Given the description of an element on the screen output the (x, y) to click on. 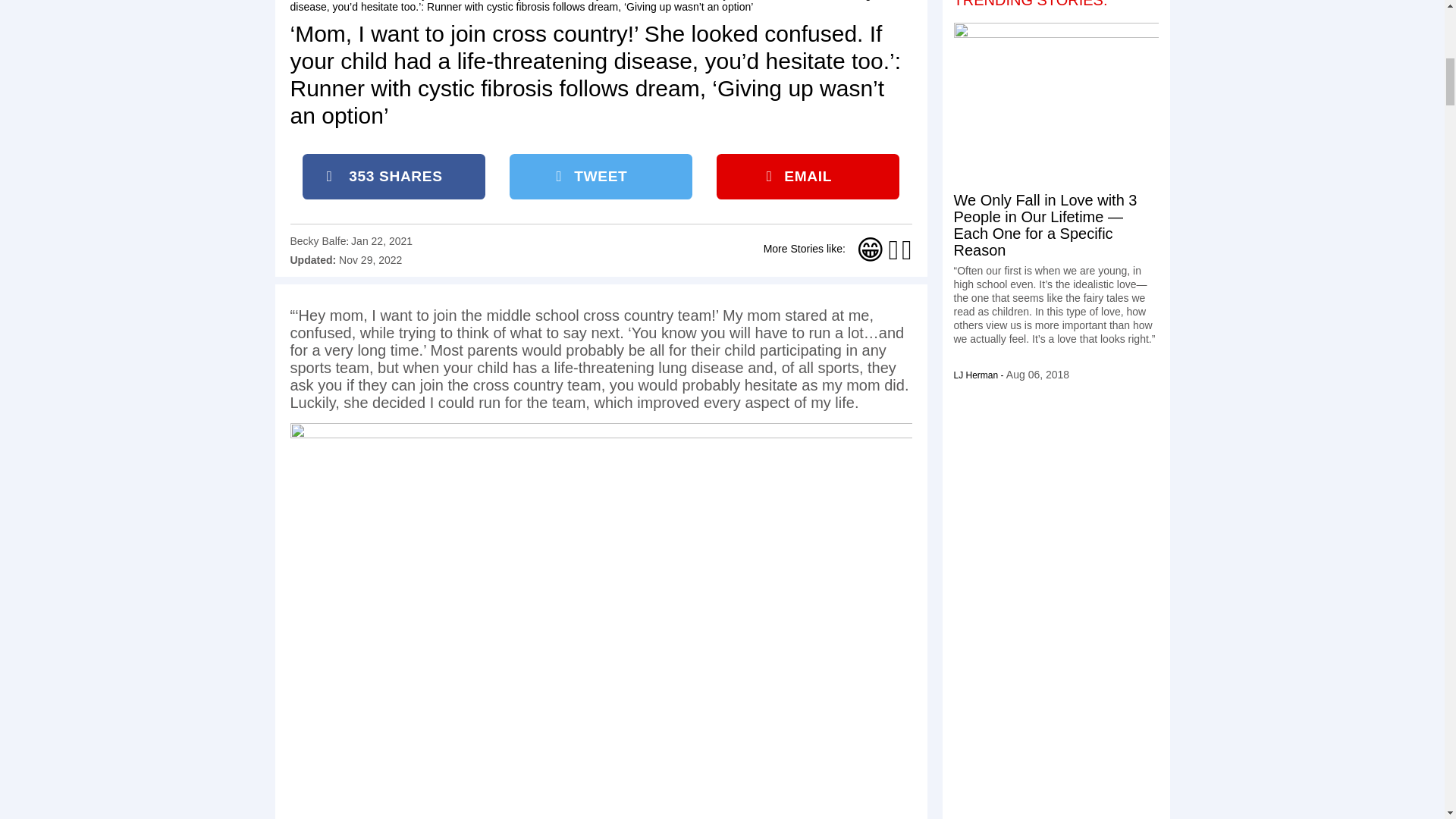
August 6, 2018 (1037, 374)
November 29, 2022 (370, 259)
January 22, 2021 (381, 241)
